Given the description of an element on the screen output the (x, y) to click on. 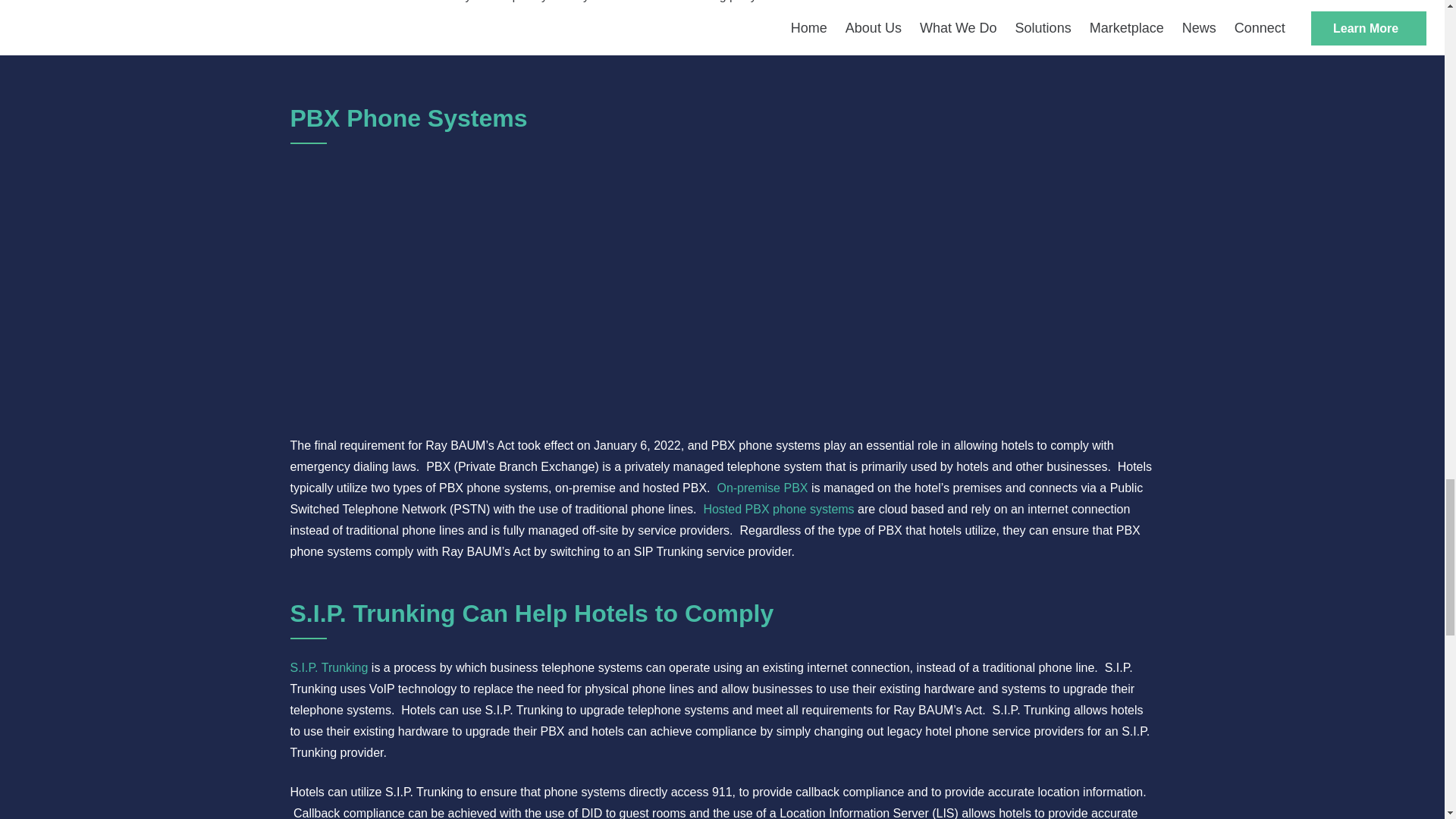
Hosted PBX phone systems (778, 508)
On-premise PBX (762, 487)
S.I.P. Trunking (328, 667)
